Given the description of an element on the screen output the (x, y) to click on. 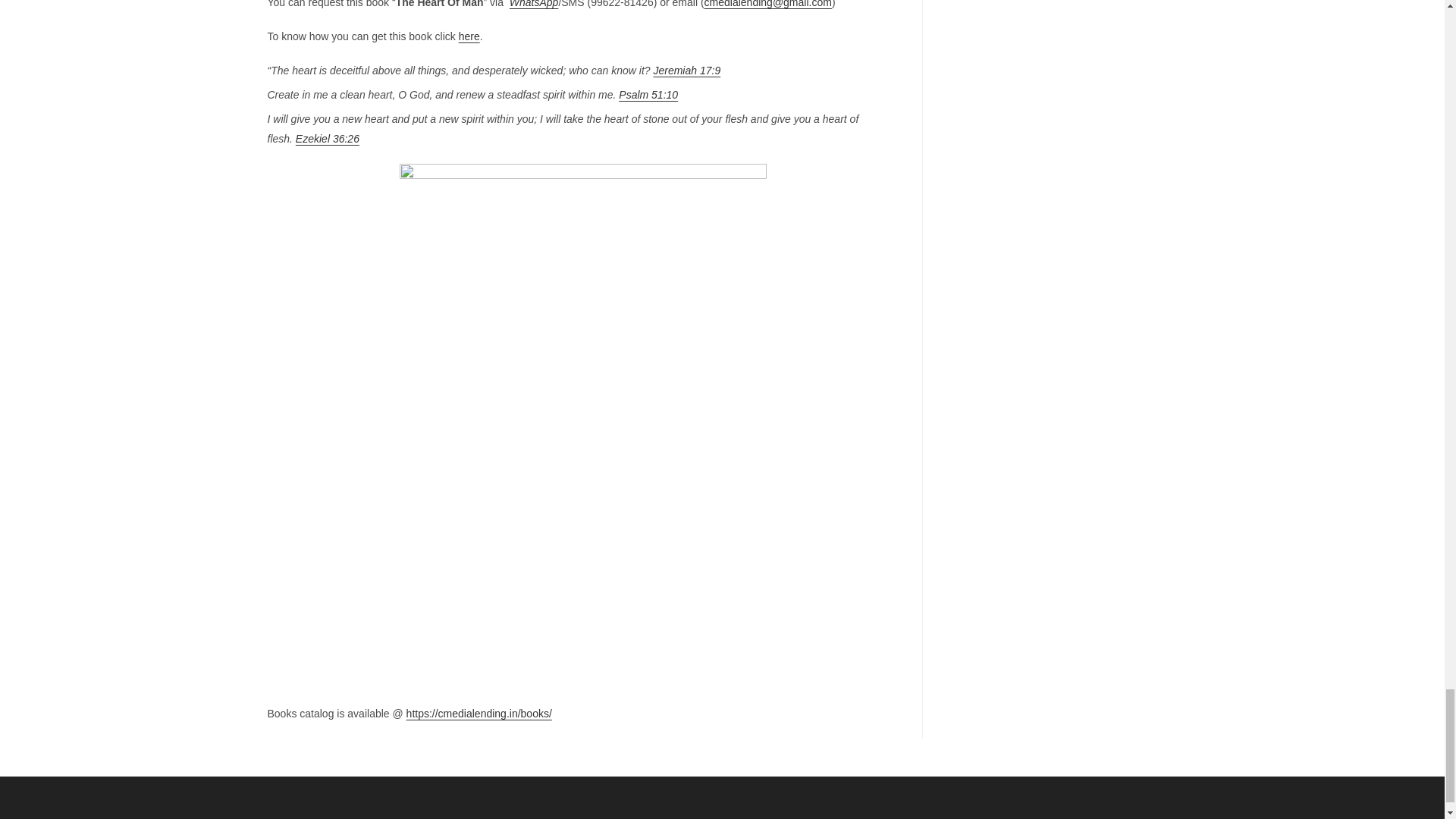
WhatsApp (534, 4)
here (469, 36)
Psalm 51:10 (648, 94)
Jeremiah 17:9 (686, 70)
Ezekiel 36:26 (327, 138)
